Given the description of an element on the screen output the (x, y) to click on. 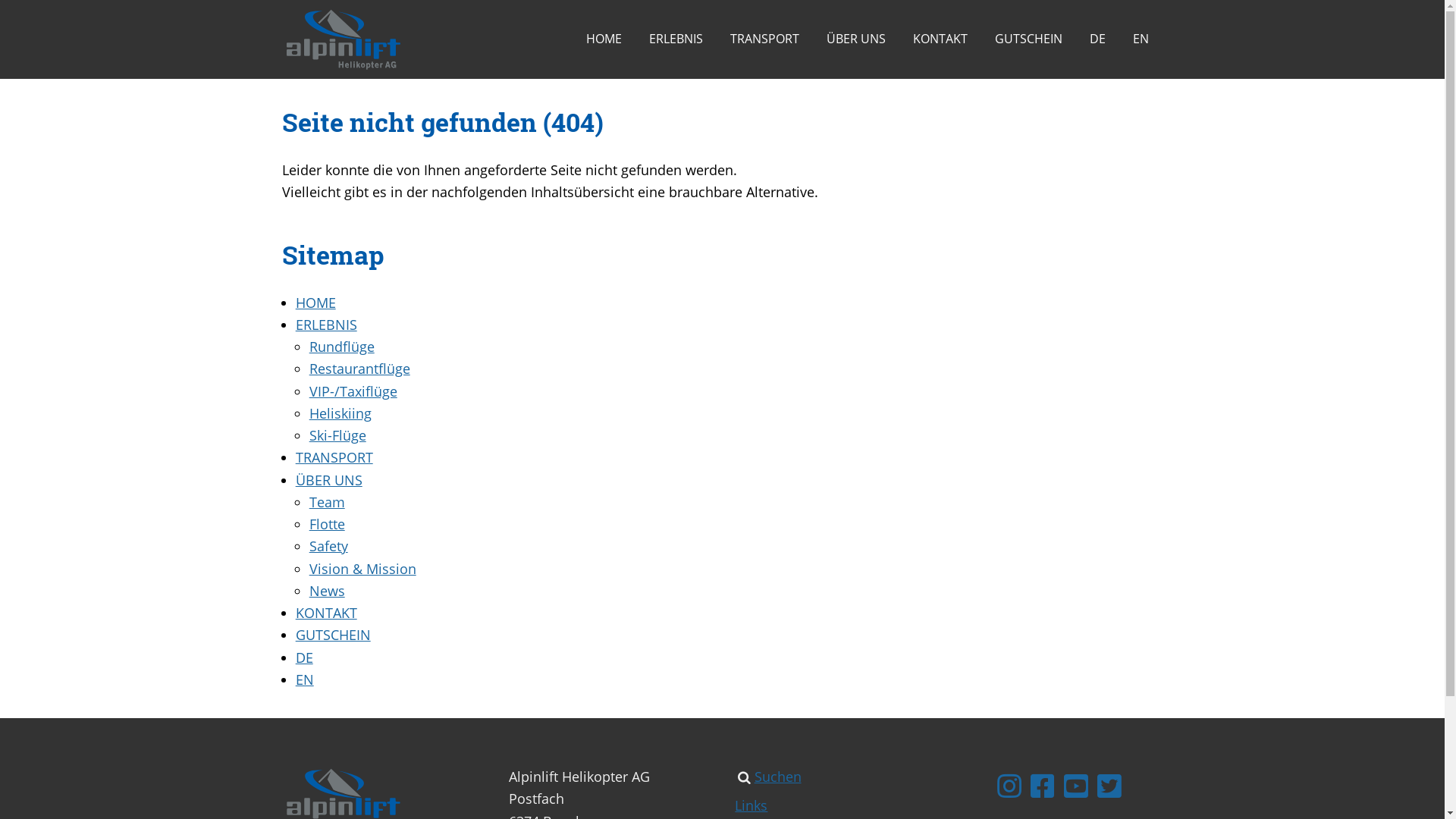
Flotte Element type: text (327, 523)
DE Element type: text (304, 656)
GUTSCHEIN Element type: text (332, 634)
KONTAKT Element type: text (326, 612)
ERLEBNIS Element type: text (326, 324)
HOME Element type: text (603, 39)
EN Element type: text (1140, 39)
DE Element type: text (1097, 39)
News Element type: text (327, 590)
Team Element type: text (327, 501)
EN Element type: text (304, 679)
ERLEBNIS Element type: text (675, 39)
Heliskiing Element type: text (340, 413)
KONTAKT Element type: text (940, 39)
Links Element type: text (750, 805)
Suchen Element type: text (777, 776)
TRANSPORT Element type: text (334, 457)
HOME Element type: text (315, 301)
Safety Element type: text (328, 545)
TRANSPORT Element type: text (764, 39)
GUTSCHEIN Element type: text (1028, 39)
Vision & Mission Element type: text (362, 568)
alpinlift_de Element type: hover (385, 39)
